Given the description of an element on the screen output the (x, y) to click on. 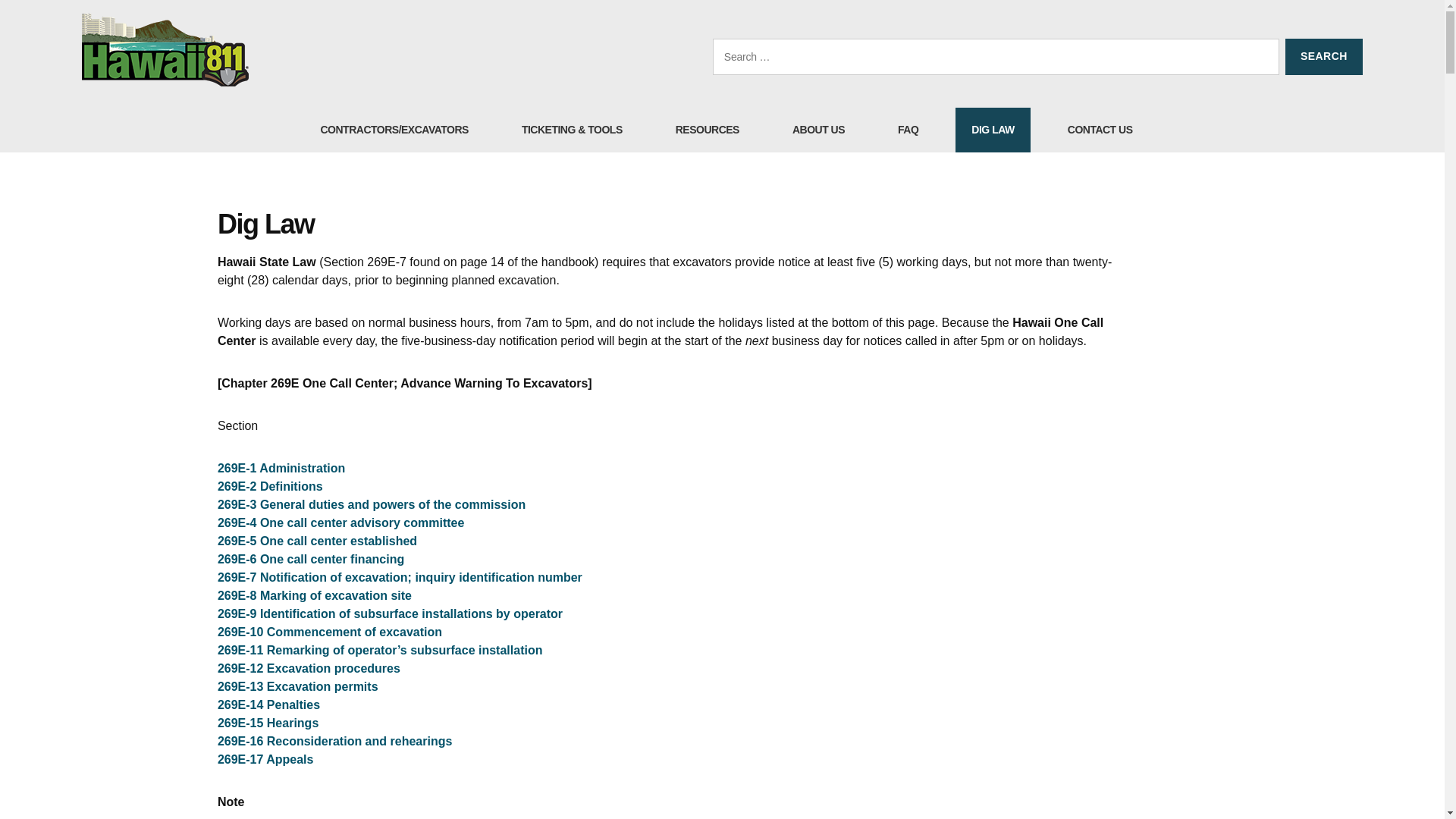
Search (1323, 56)
RESOURCES (707, 129)
ABOUT US (818, 129)
DIG LAW (992, 129)
Hawaii811 (164, 49)
CONTACT US (1099, 129)
FAQ (908, 129)
Search (1323, 56)
Search (1323, 56)
